Given the description of an element on the screen output the (x, y) to click on. 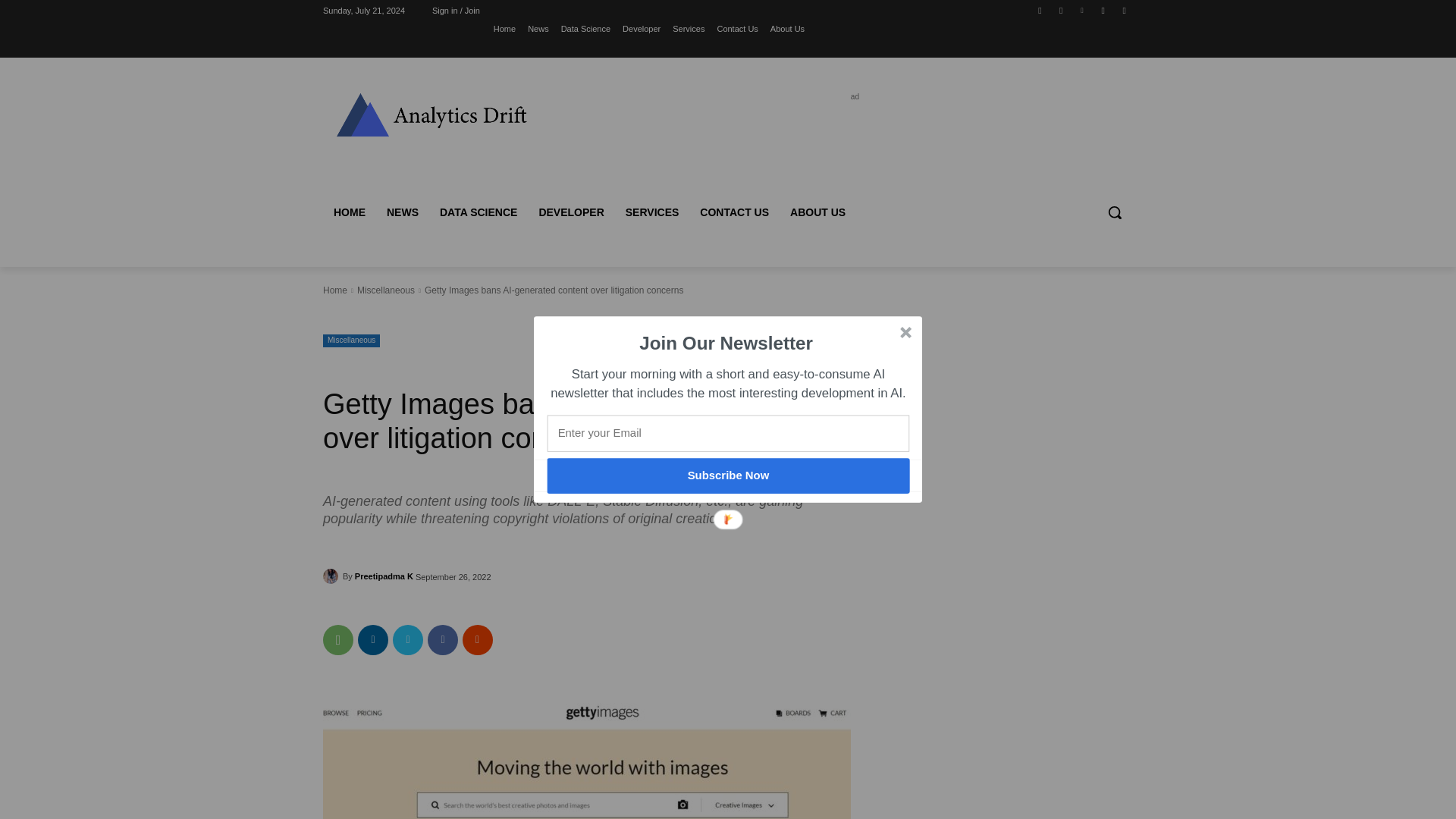
DEVELOPER (570, 212)
Services (688, 28)
HOME (349, 212)
Facebook (1039, 9)
Miscellaneous (351, 340)
Miscellaneous (385, 290)
Linkedin (1082, 9)
Instagram (1061, 9)
Developer (642, 28)
WhatsApp (338, 639)
News (537, 28)
AI Portal (431, 114)
About Us (787, 28)
Contact Us (736, 28)
Home (504, 28)
